Given the description of an element on the screen output the (x, y) to click on. 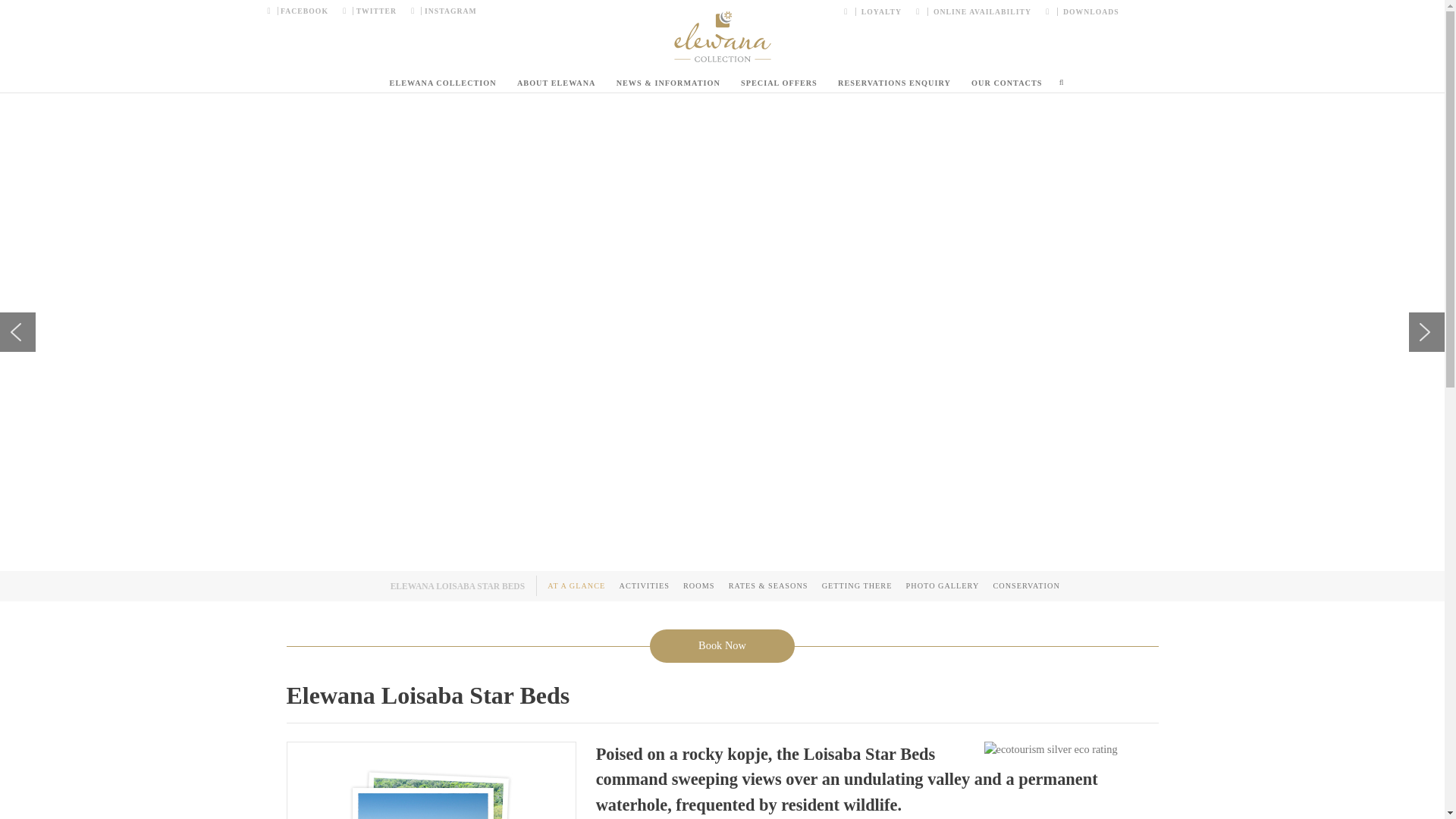
INSTAGRAM (439, 11)
TWITTER (369, 11)
ONLINE AVAILABILITY (973, 11)
LOYALTY (876, 11)
ELEWANA COLLECTION (443, 82)
elewana (721, 36)
TWITTER (369, 11)
FACEBOOK (300, 11)
INSTAGRAM (439, 11)
DOWNLOADS (1078, 11)
